Given the description of an element on the screen output the (x, y) to click on. 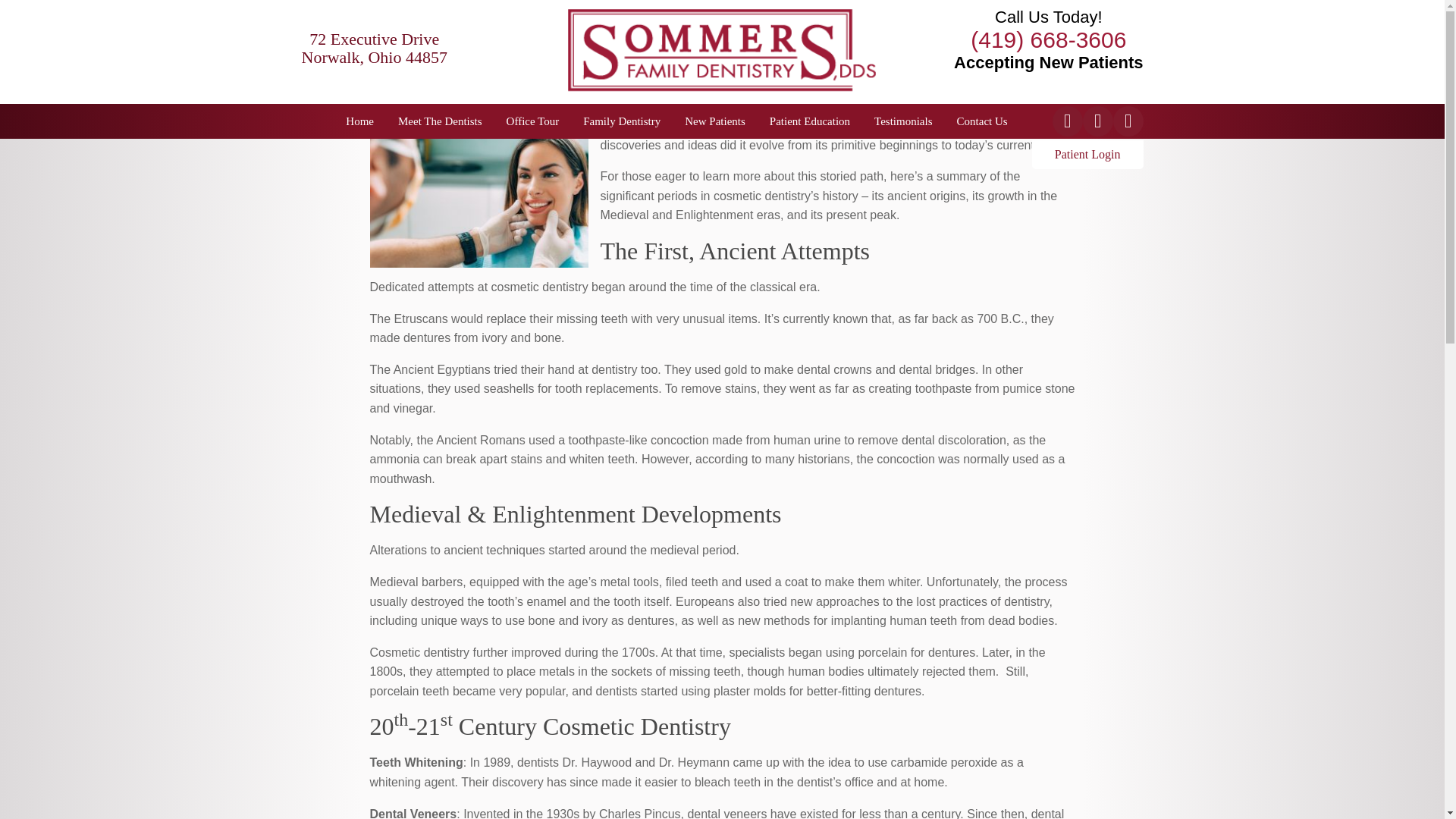
Meet The Dentists (439, 121)
Testimonials (903, 121)
Family Dentistry (622, 121)
Office Tour (532, 121)
Patient Education (810, 121)
New Patients (714, 121)
